Given the description of an element on the screen output the (x, y) to click on. 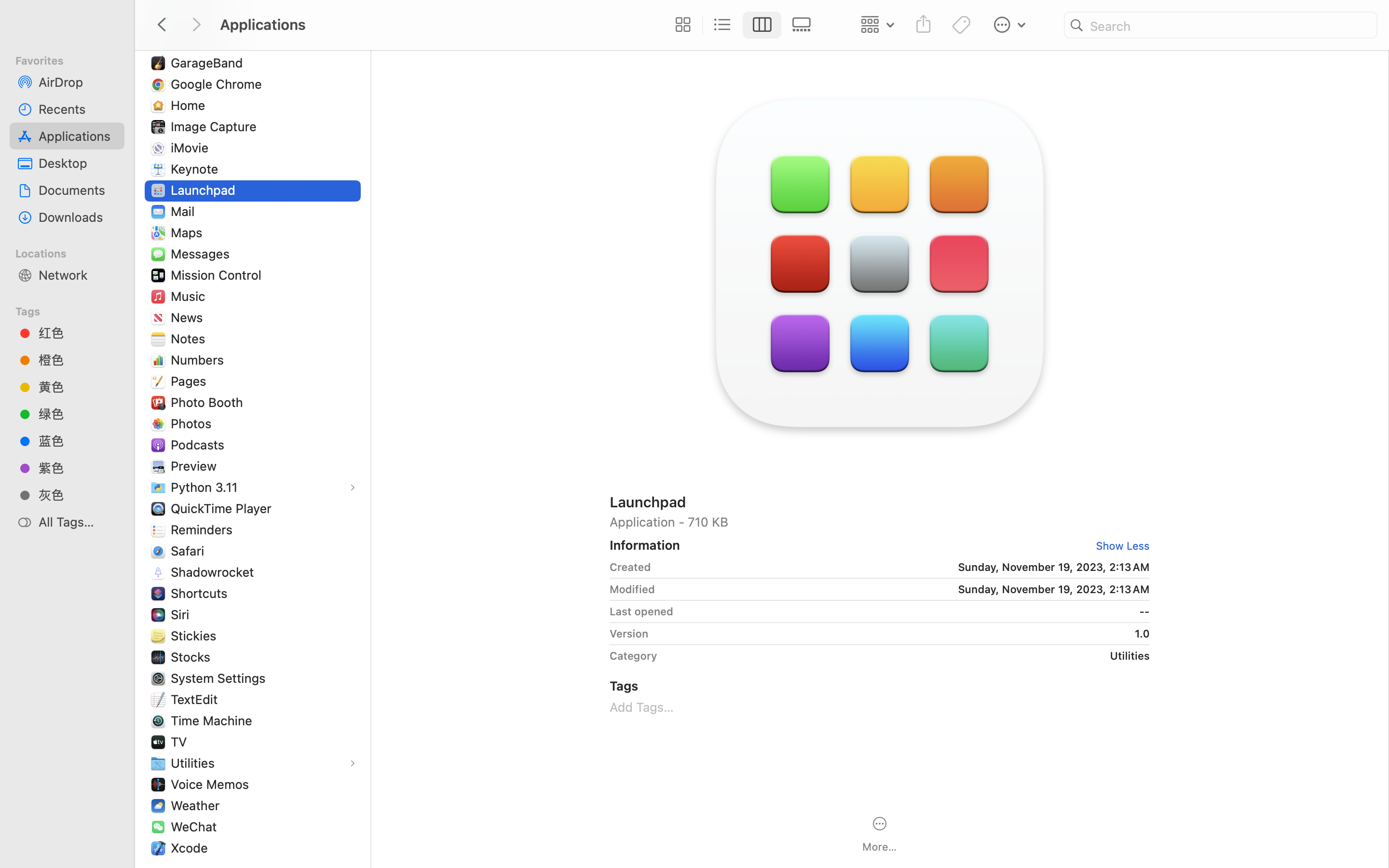
Font Book Element type: AXTextField (202, 19)
Photos Element type: AXTextField (192, 423)
1 Element type: AXCheckBox (1119, 545)
Image Capture Element type: AXTextField (215, 126)
All Tags… Element type: AXStaticText (77, 521)
